Given the description of an element on the screen output the (x, y) to click on. 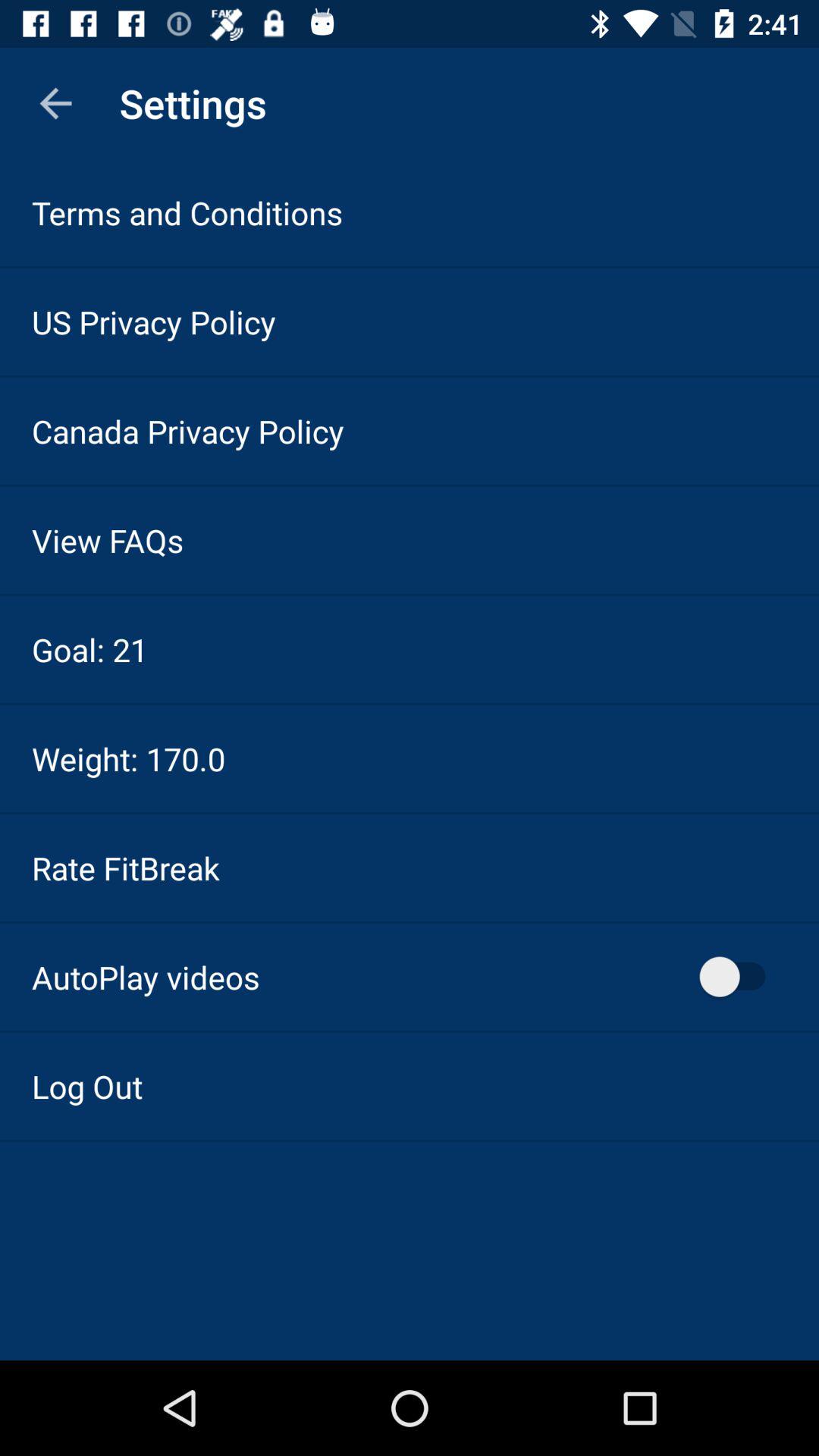
press icon above the terms and conditions icon (55, 103)
